Given the description of an element on the screen output the (x, y) to click on. 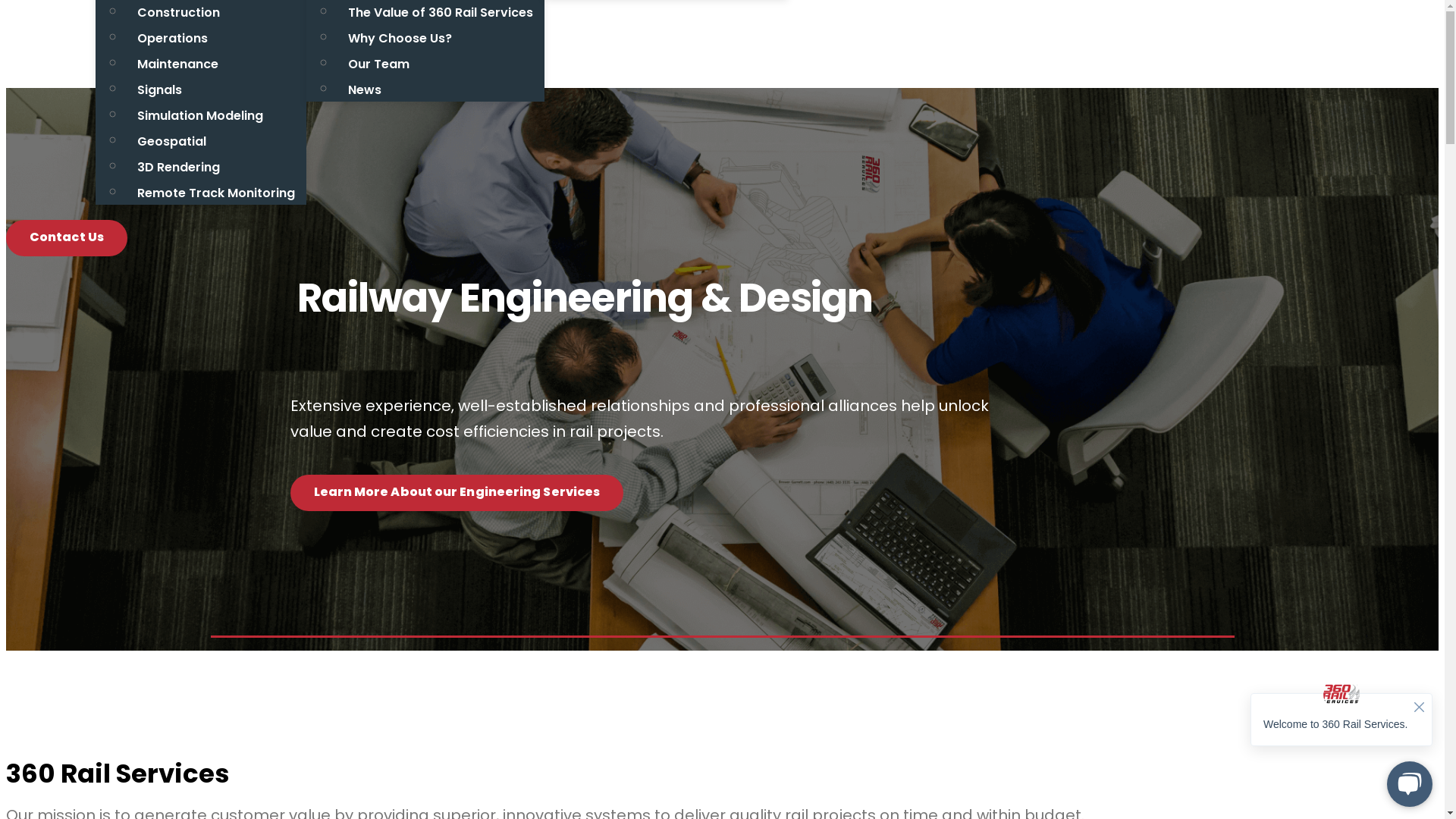
Geospatial Element type: text (171, 141)
Learn More About our Engineering Services Element type: text (456, 492)
Contact Us Element type: text (66, 237)
Operations Element type: text (172, 38)
Our Team Element type: text (378, 63)
Submit Element type: text (1383, 43)
3D Rendering Element type: text (178, 167)
News Element type: text (364, 89)
Simulation Modeling Element type: text (199, 115)
Remote Track Monitoring Element type: text (215, 192)
Signals Element type: text (159, 89)
Why Choose Us? Element type: text (399, 38)
Maintenance Element type: text (177, 63)
